Given the description of an element on the screen output the (x, y) to click on. 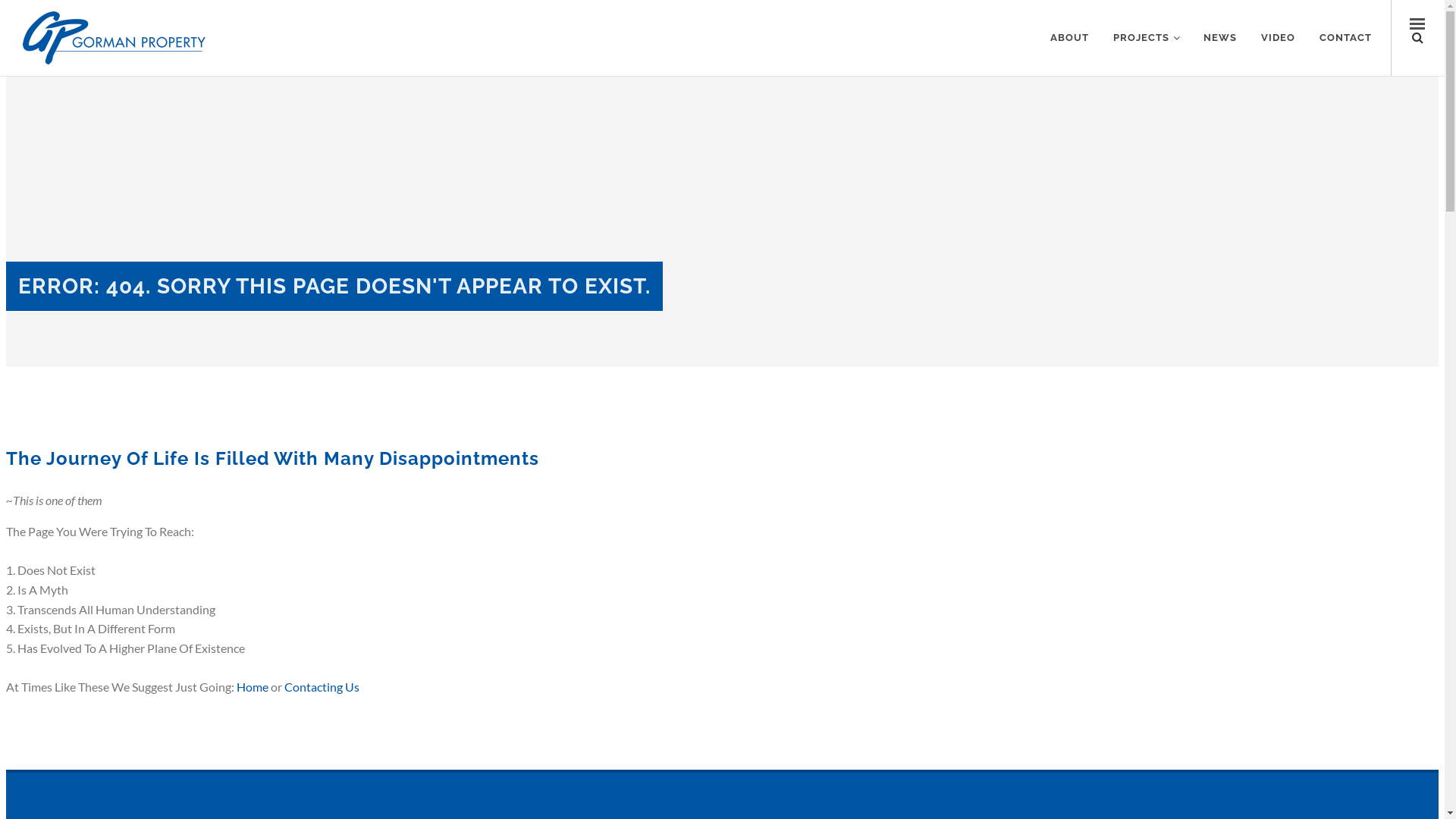
CONTACT Element type: text (1345, 37)
NEWS Element type: text (1219, 37)
VIDEO Element type: text (1277, 37)
Contacting Us Element type: text (321, 686)
Gorman Property Element type: hover (113, 37)
Home Element type: text (252, 686)
ABOUT Element type: text (1069, 37)
PROJECTS Element type: text (1146, 37)
Mobile nav Element type: text (1417, 37)
